Given the description of an element on the screen output the (x, y) to click on. 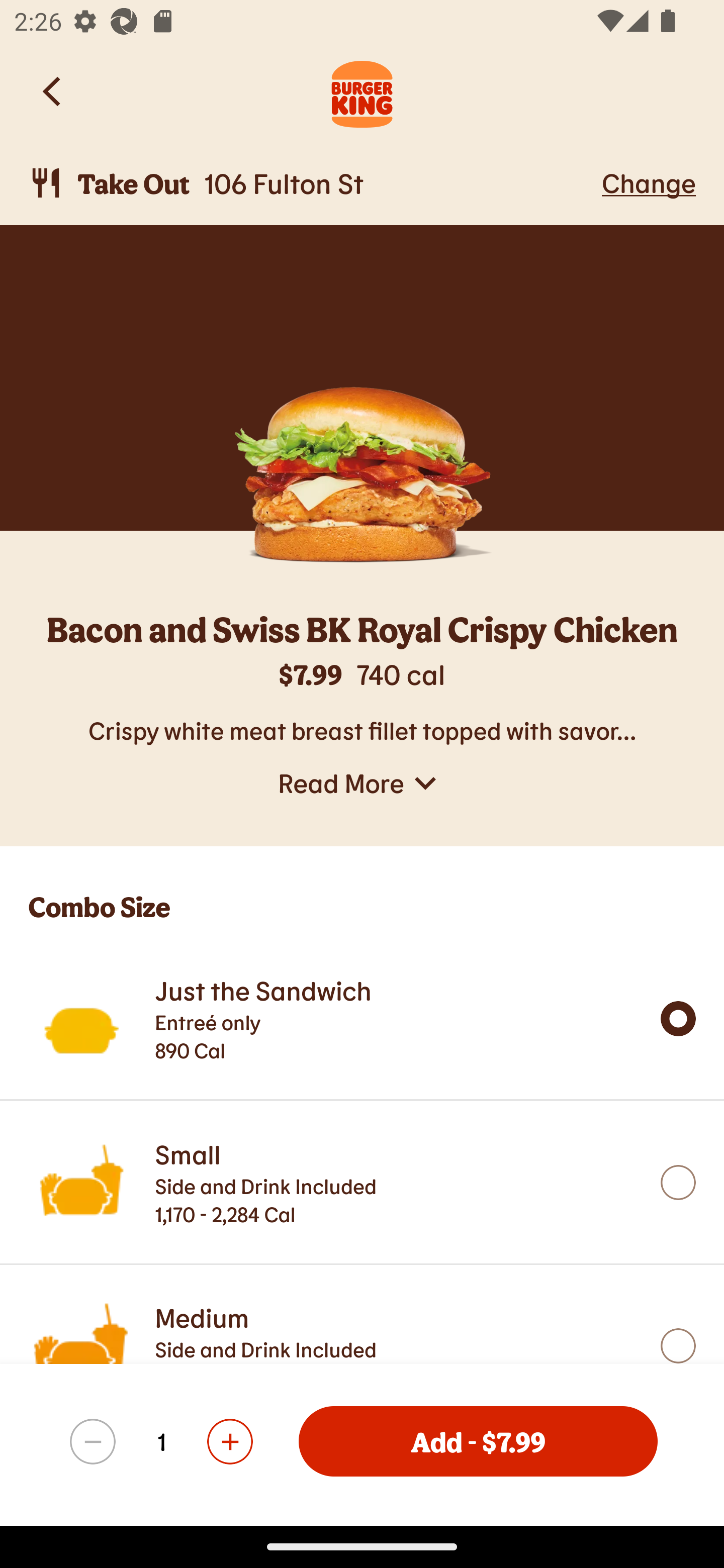
Burger King Logo. Navigate to Home (362, 91)
Back (52, 91)
Take Out, 106 Fulton St  Take Out 106 Fulton St (311, 183)
Change (648, 182)
Bacon and Swiss BK Royal Crispy Chicken (361, 631)
$7.99 740 Cal $7.99 740 cal (361, 683)
Read More,  Read More  (361, 783)
Combo Size (362, 891)
